Given the description of an element on the screen output the (x, y) to click on. 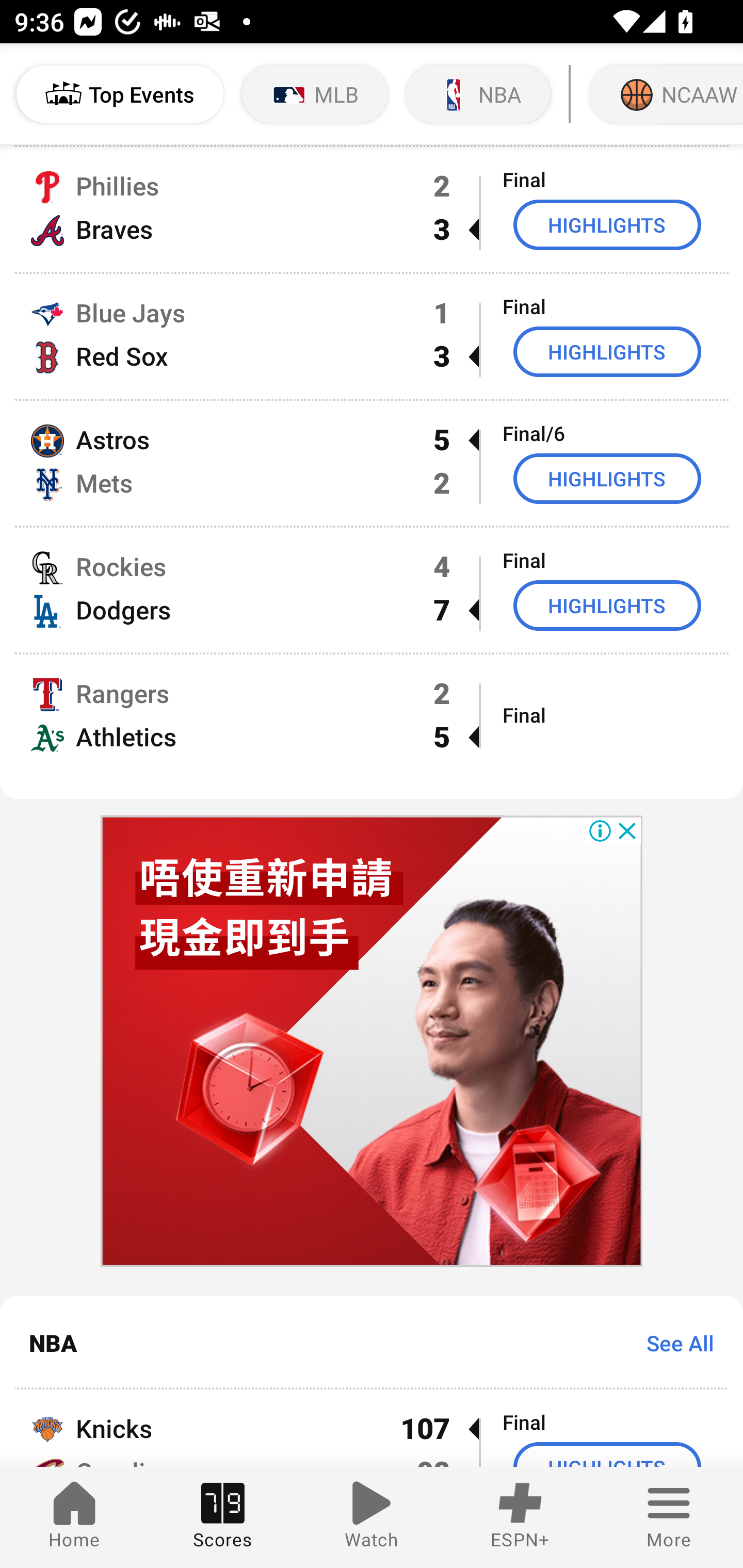
 Top Events (119, 93)
MLB (314, 93)
NBA (477, 93)
NCAAW (664, 93)
Phillies 2 Final Braves 3  HIGHLIGHTS (371, 209)
HIGHLIGHTS (607, 224)
Blue Jays 1 Final Red Sox 3  HIGHLIGHTS (371, 336)
HIGHLIGHTS (607, 351)
Astros 5  Final/6 Mets 2 HIGHLIGHTS (371, 463)
HIGHLIGHTS (607, 478)
Rockies 4 Final Dodgers 7  HIGHLIGHTS (371, 590)
HIGHLIGHTS (607, 605)
Rangers 2 Athletics 5  Final (371, 726)
300x250 (371, 1040)
NBA See All (371, 1342)
See All (673, 1342)
Knicks 107  Final Cavaliers 98 HIGHLIGHTS (371, 1428)
Home (74, 1517)
Watch (371, 1517)
ESPN+ (519, 1517)
More (668, 1517)
